Given the description of an element on the screen output the (x, y) to click on. 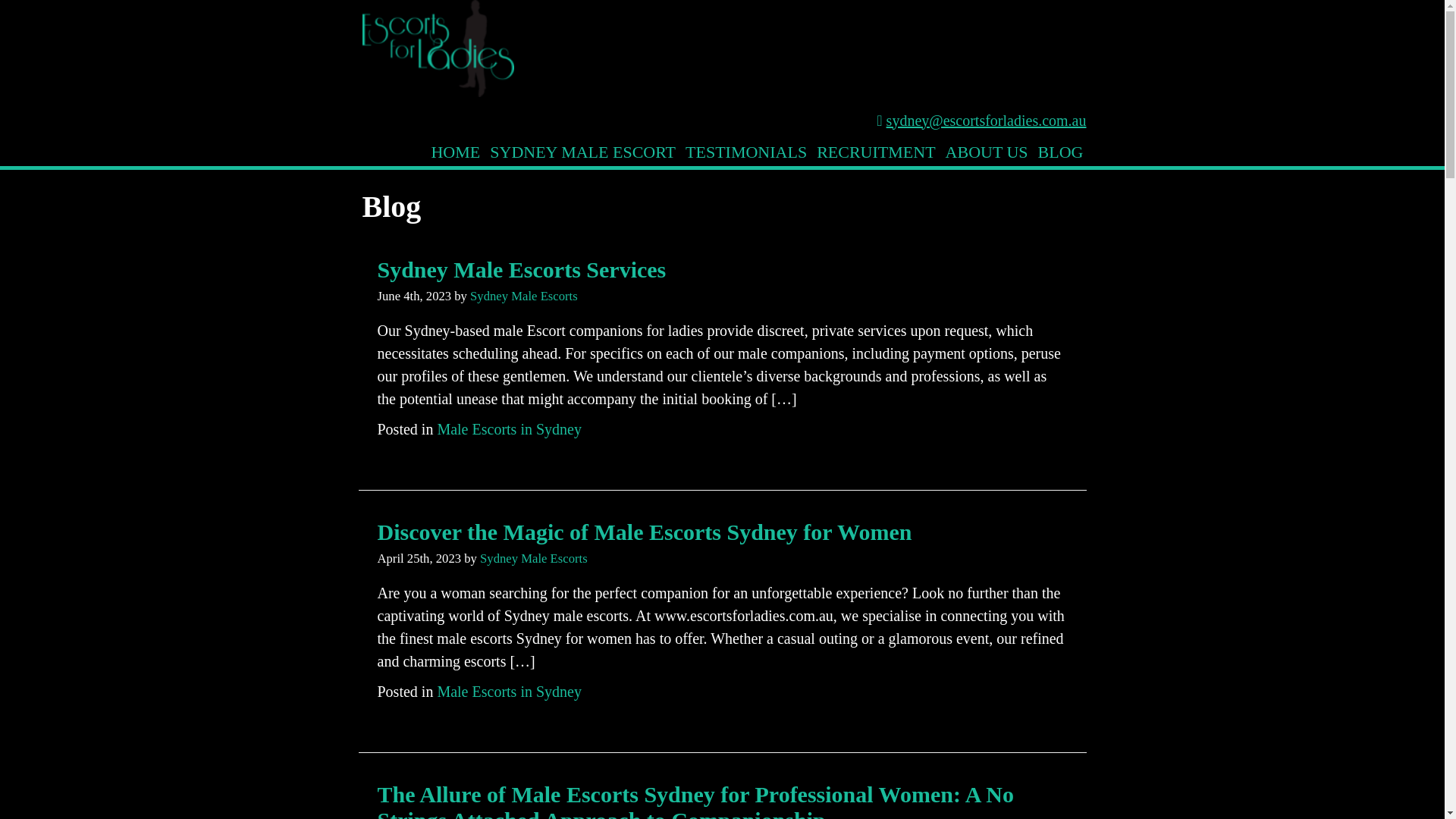
TESTIMONIALS Element type: text (745, 151)
RECRUITMENT Element type: text (875, 151)
BLOG Element type: text (1060, 151)
HOME Element type: text (455, 151)
sydney@escortsforladies.com.au Element type: text (986, 120)
Discover the Magic of Male Escorts Sydney for Women Element type: text (644, 530)
ABOUT US Element type: text (986, 151)
Sydney Male Escorts Element type: text (533, 557)
Male Escorts in Sydney Element type: text (508, 428)
Male Escorts in Sydney Element type: text (508, 690)
Sydney Male Escorts Services Element type: text (521, 268)
Sydney Male Escorts Element type: text (523, 295)
SYDNEY MALE ESCORT Element type: text (582, 151)
